Given the description of an element on the screen output the (x, y) to click on. 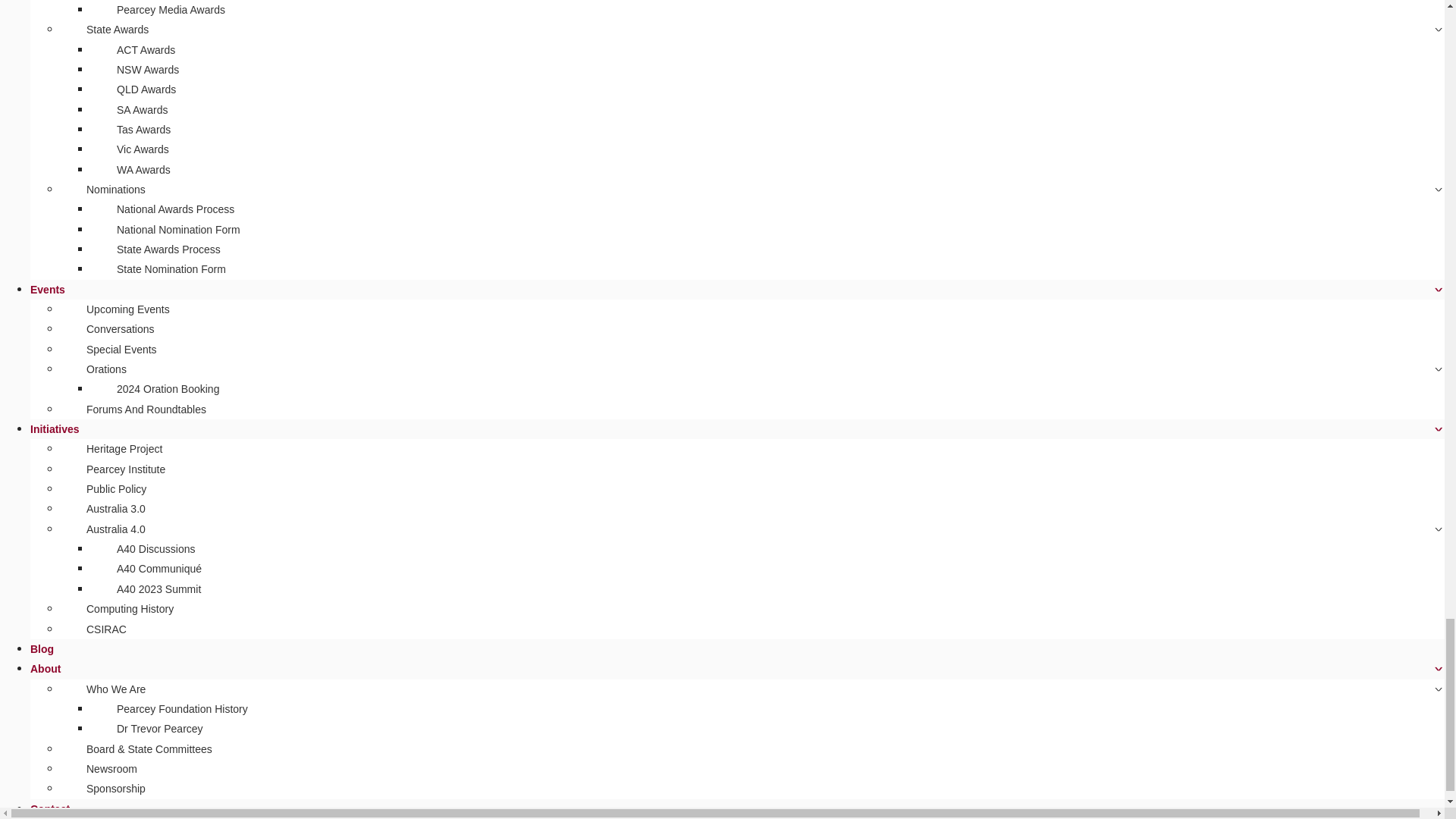
Forums And Roundtables (146, 409)
National Awards Process (175, 209)
Australia 4.0 (116, 528)
A40 2023 Summit (158, 589)
Public Policy (116, 488)
NSW Awards (147, 69)
Special Events (122, 349)
State Awards Process (168, 249)
Orations (106, 369)
WA Awards (143, 169)
